Given the description of an element on the screen output the (x, y) to click on. 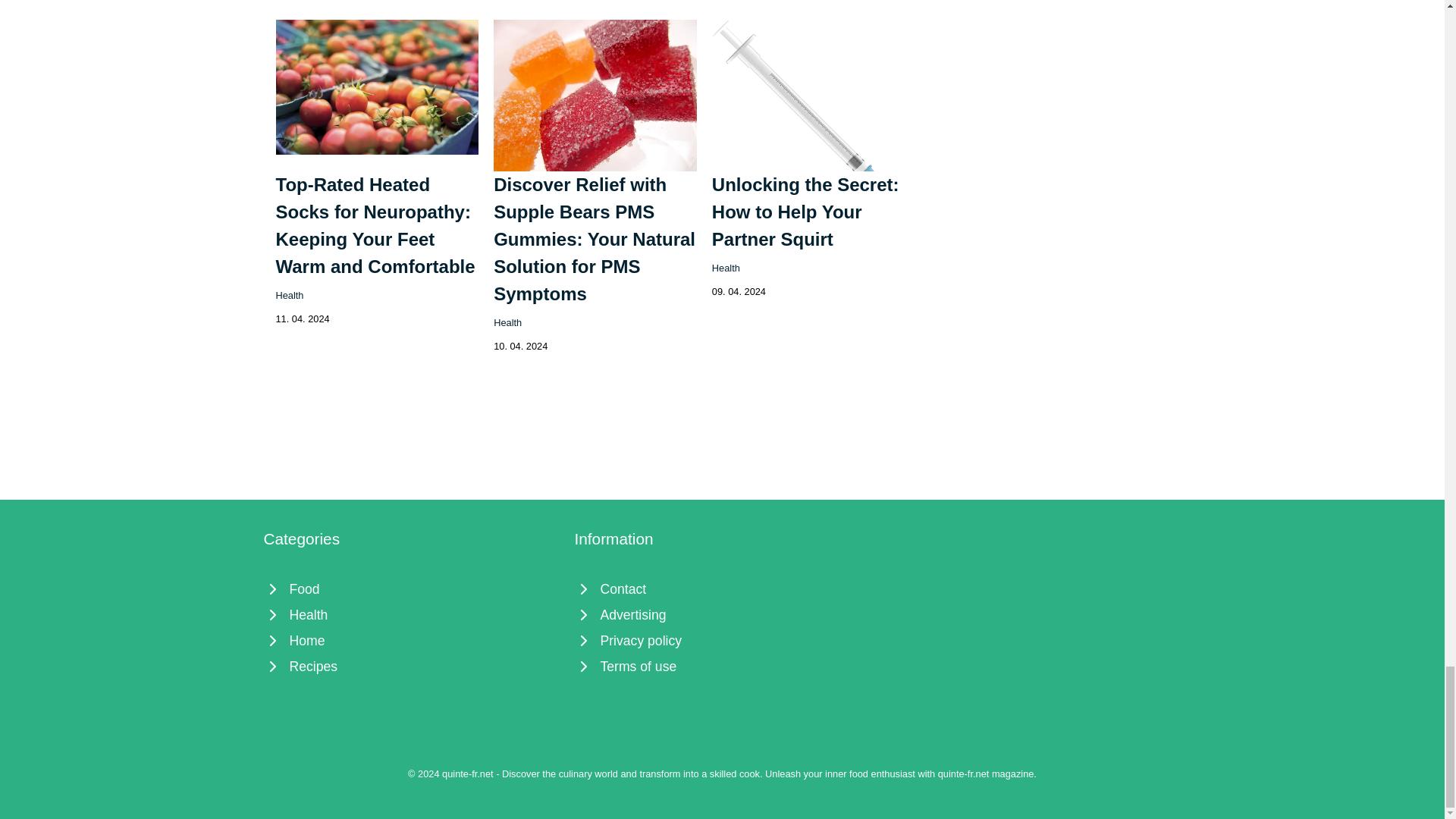
Health (290, 295)
Health (507, 322)
Food (411, 588)
Privacy policy (722, 640)
Contact (722, 588)
Health (411, 614)
Advertising (722, 614)
Health (725, 267)
